Given the description of an element on the screen output the (x, y) to click on. 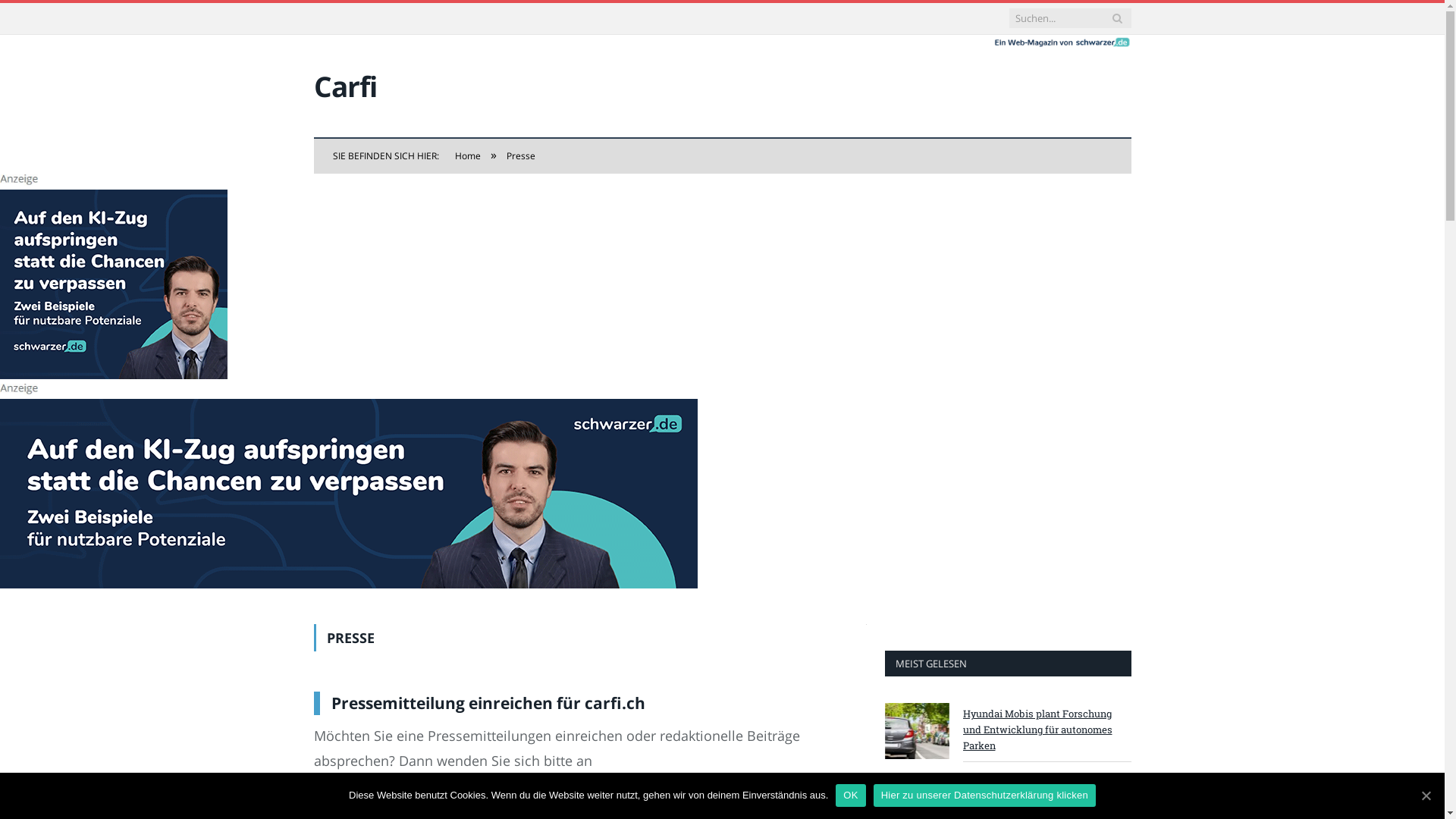
Home Element type: text (467, 155)
OK Element type: text (850, 795)
Carfi Element type: text (344, 85)
